Given the description of an element on the screen output the (x, y) to click on. 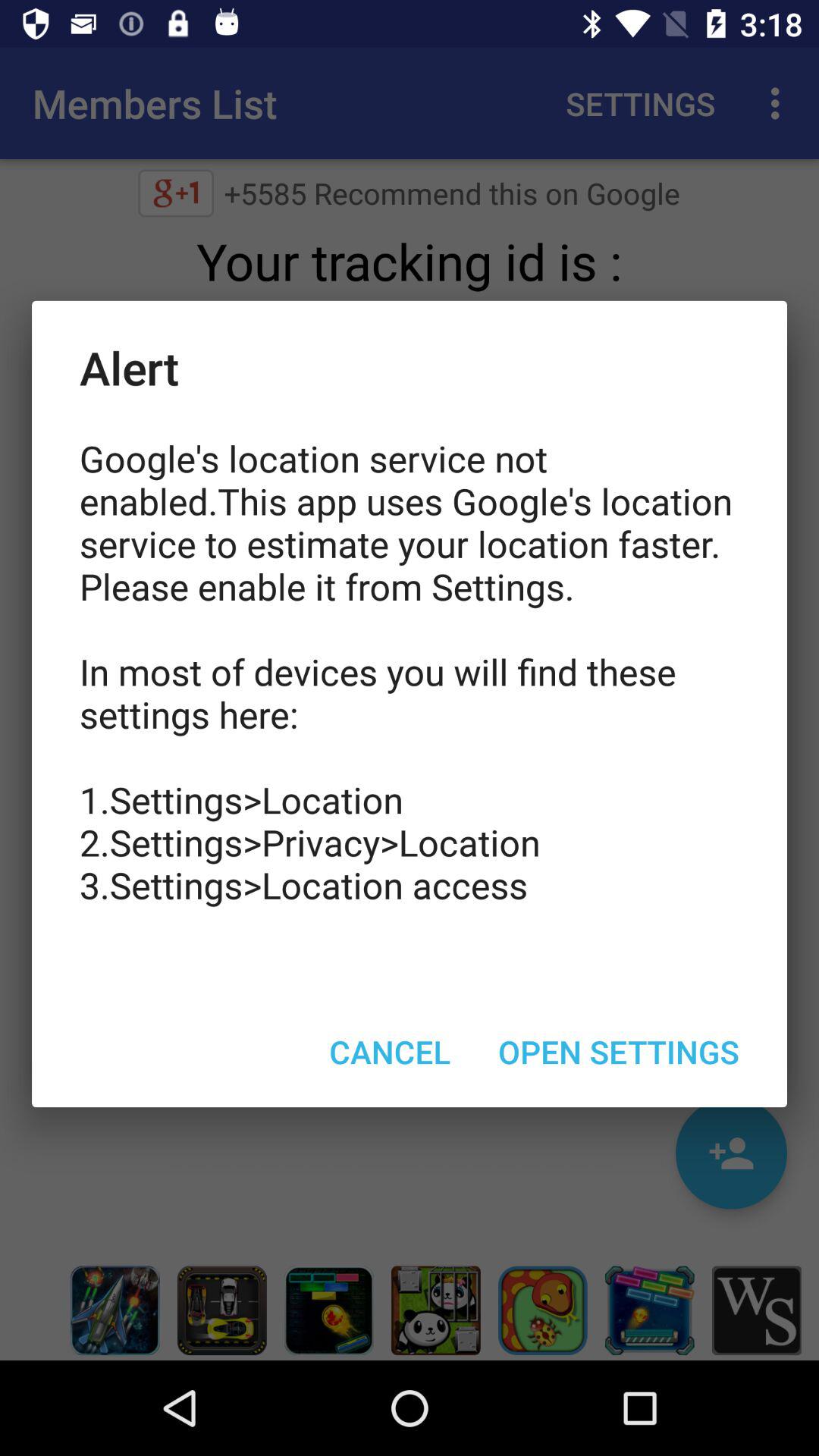
launch the cancel item (389, 1051)
